Given the description of an element on the screen output the (x, y) to click on. 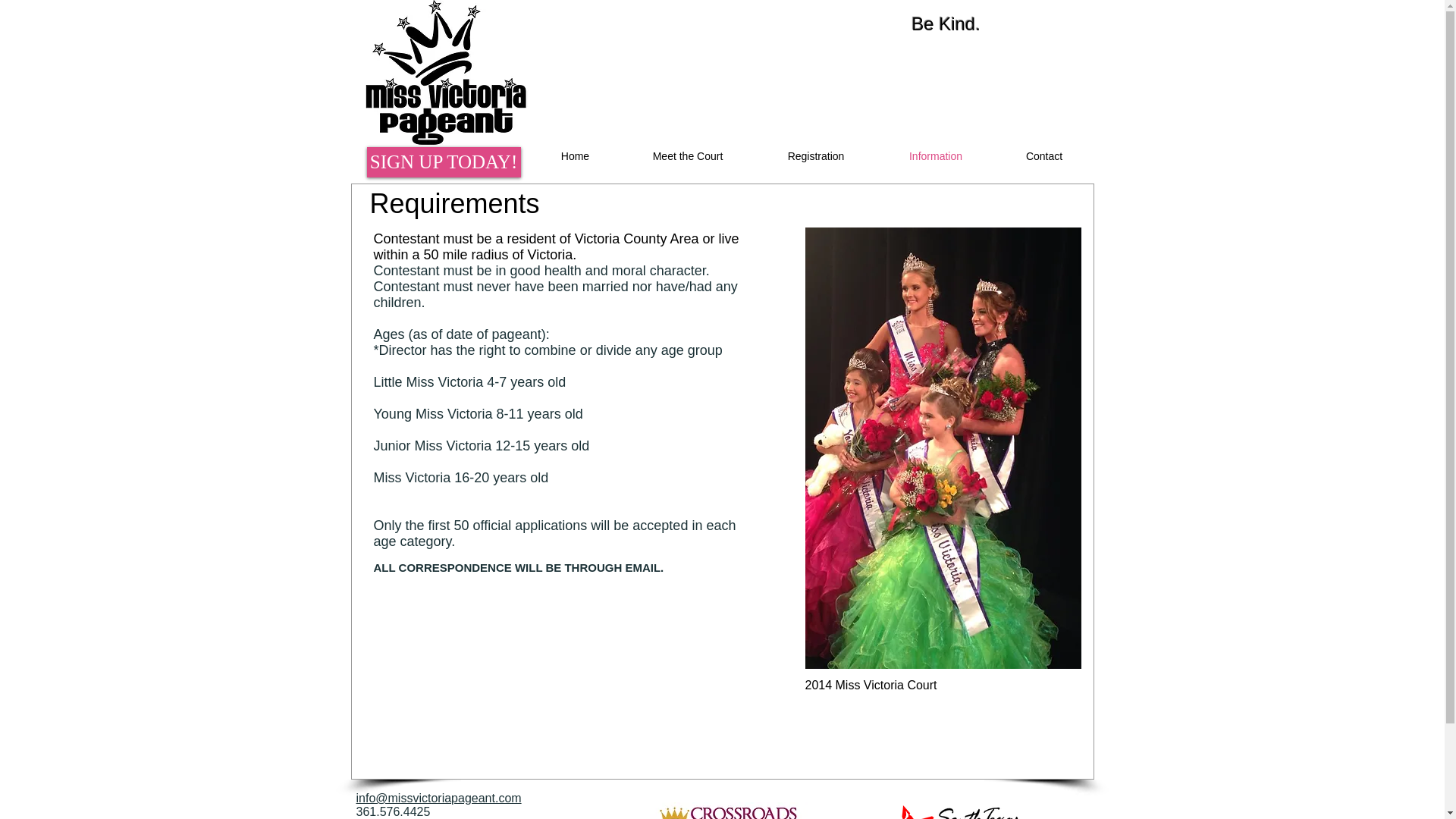
Home (575, 155)
Contact (1043, 155)
CRP LOGO.jpg (721, 810)
Meet the Court (687, 155)
Information (935, 155)
Registration (815, 155)
SIGN UP TODAY! (443, 162)
